Given the description of an element on the screen output the (x, y) to click on. 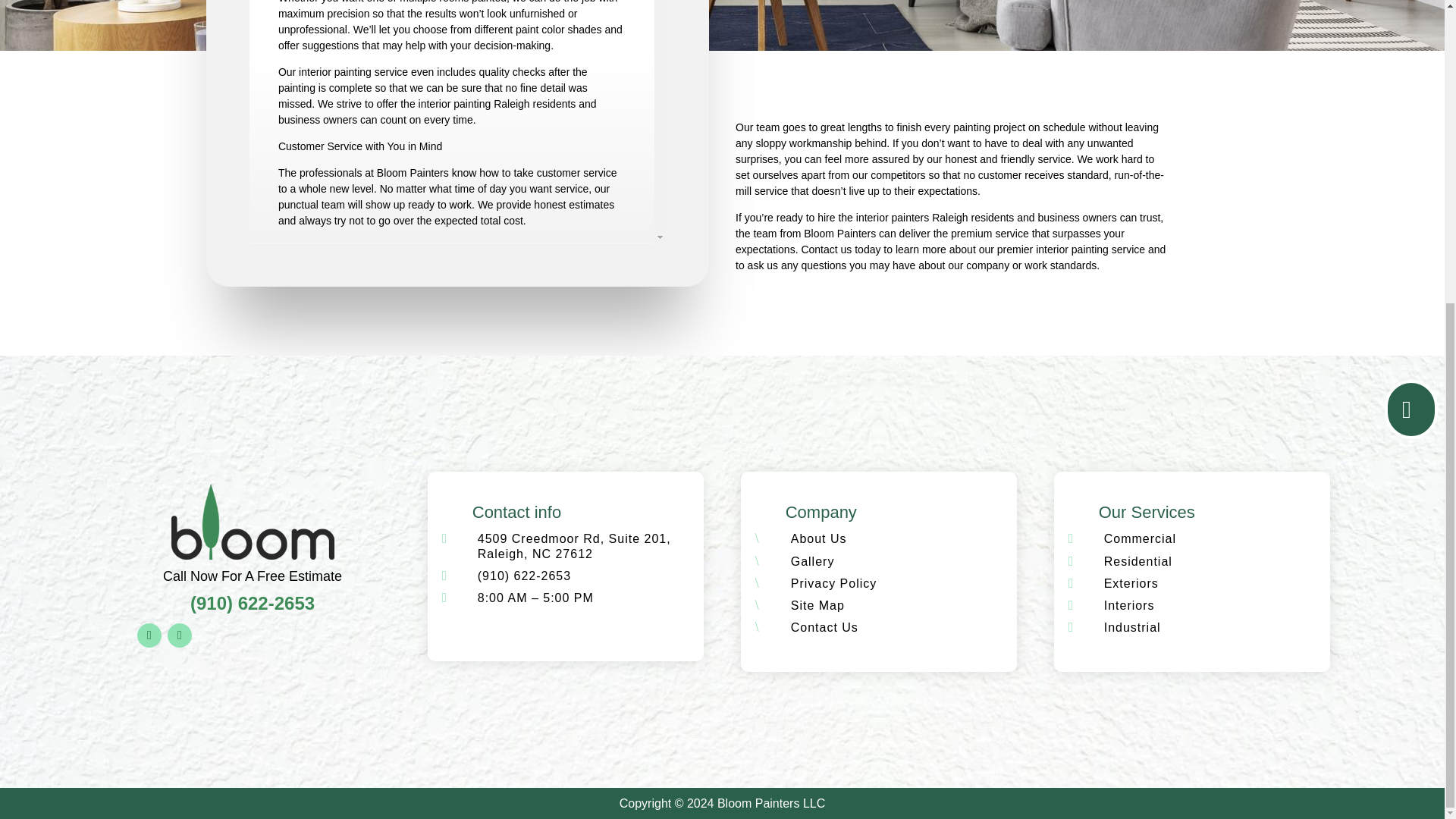
About Us (818, 538)
Interiors (1128, 604)
Gallery (812, 561)
Residential  (1137, 561)
Follow on Facebook (148, 635)
Exteriors (1130, 583)
Site Map (817, 604)
bloom-logo (252, 521)
Follow on Instagram (179, 635)
Industrial (1131, 626)
Privacy Policy (833, 583)
Commercial (1139, 538)
Contact Us (824, 626)
